Given the description of an element on the screen output the (x, y) to click on. 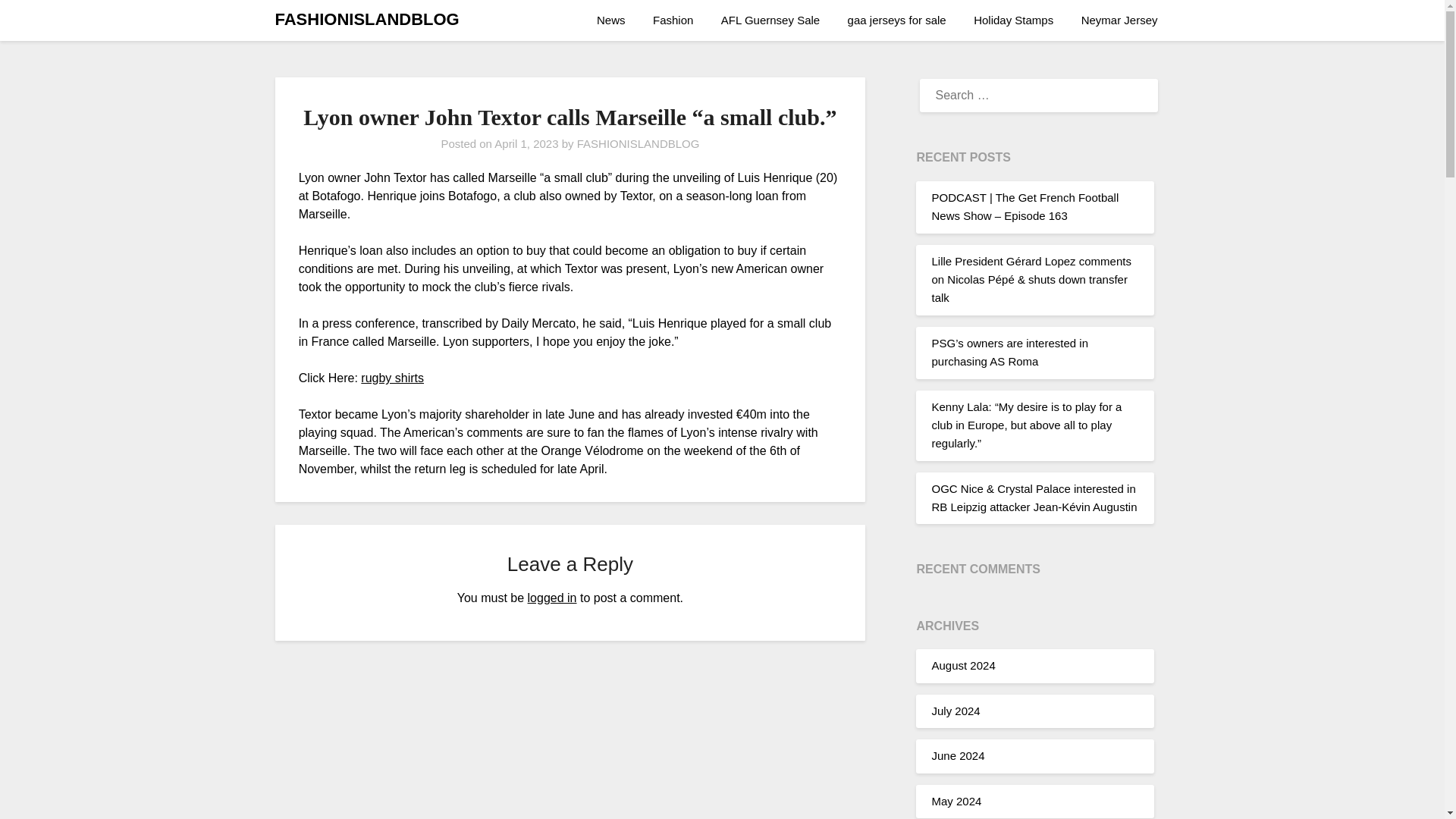
rugby shirts (392, 377)
Neymar Jersey (1119, 20)
May 2024 (956, 800)
logged in (551, 597)
Fashion (672, 20)
AFL Guernsey Sale (770, 20)
July 2024 (955, 710)
gaa jerseys for sale (896, 20)
News (616, 20)
June 2024 (957, 755)
FASHIONISLANDBLOG (638, 143)
rugby shirts (392, 377)
Search (38, 22)
April 1, 2023 (526, 143)
Holiday Stamps (1012, 20)
